Given the description of an element on the screen output the (x, y) to click on. 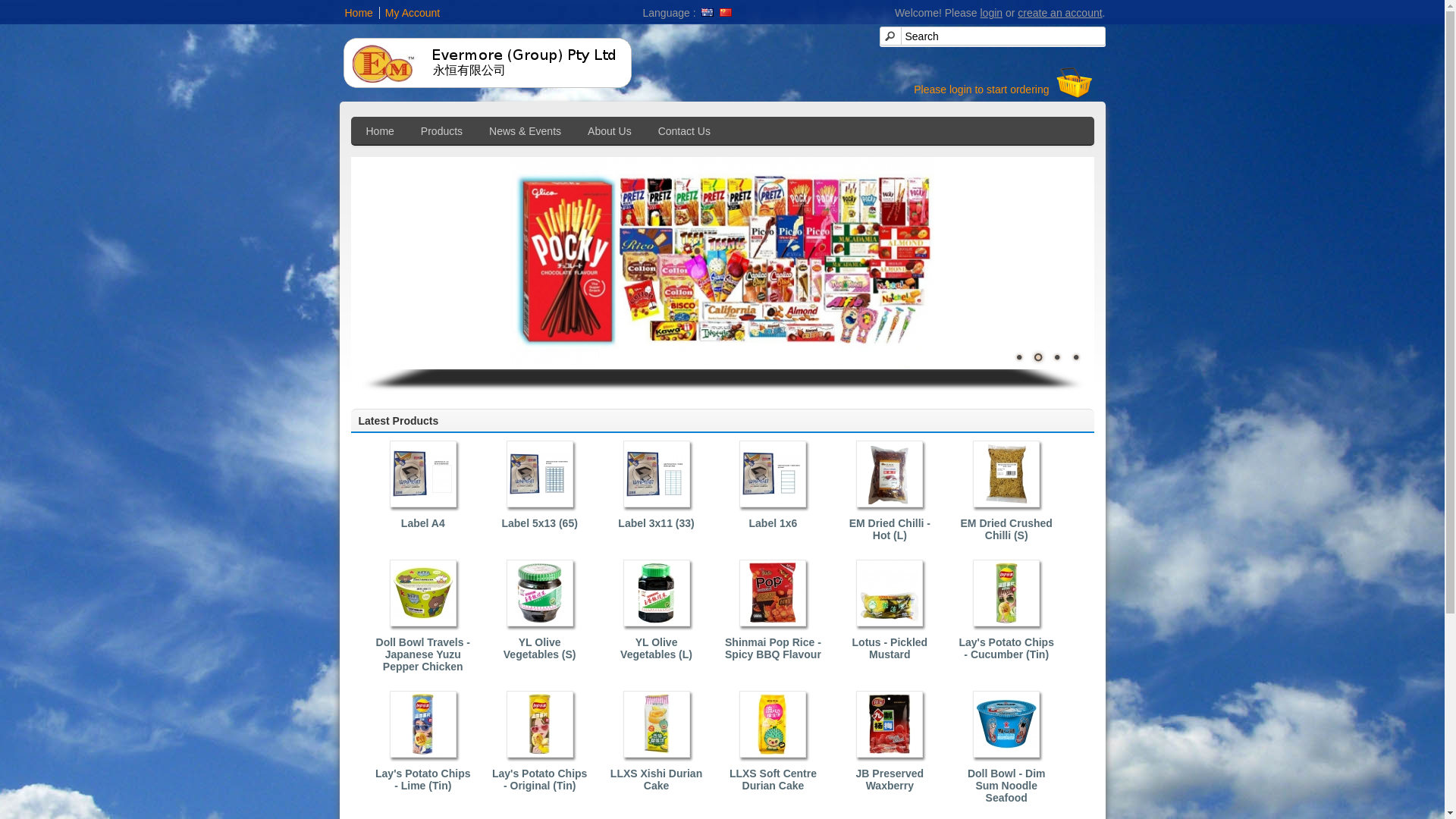
Label A4 Element type: text (422, 523)
Home Element type: text (381, 130)
login Element type: text (990, 12)
Products Element type: text (443, 130)
Lay's Potato Chips - Original (Tin) Element type: text (539, 779)
Shinmai Pop Rice - Spicy BBQ Flavour Element type: text (772, 648)
Lay's Potato Chips - Lime (Tin) Element type: text (422, 779)
Lotus - Pickled Mustard Element type: text (889, 648)
2 Element type: text (1037, 356)
1 Element type: text (1018, 356)
LLXS Soft Centre Durian Cake Element type: text (772, 779)
Contact Us Element type: text (685, 130)
JB Preserved Waxberry Element type: text (889, 779)
EM Dried Chilli - Hot (L) Element type: text (889, 529)
4 Element type: text (1075, 356)
About Us Element type: text (611, 130)
YL Olive Vegetables (L) Element type: text (656, 648)
3 Element type: text (1056, 356)
News & Events Element type: text (526, 130)
Doll Bowl - Dim Sum Noodle Seafood Element type: text (1006, 785)
EM Dried Crushed Chilli (S) Element type: text (1006, 529)
Doll Bowl Travels - Japanese Yuzu Pepper Chicken Element type: text (422, 654)
YL Olive Vegetables (S) Element type: text (539, 648)
Label 5x13 (65) Element type: text (539, 523)
My Account Element type: text (409, 12)
Search Element type: text (992, 35)
Please login to start ordering Element type: text (980, 89)
Evermore (Group) Pty Ltd Element type: hover (494, 62)
LLXS Xishi Durian Cake Element type: text (656, 779)
Home Element type: text (356, 12)
create an account Element type: text (1059, 12)
English Element type: hover (707, 12)
Lay's Potato Chips - Cucumber (Tin) Element type: text (1006, 648)
Label 1x6 Element type: text (772, 523)
Label 3x11 (33) Element type: text (656, 523)
Chinese Element type: hover (725, 12)
